Given the description of an element on the screen output the (x, y) to click on. 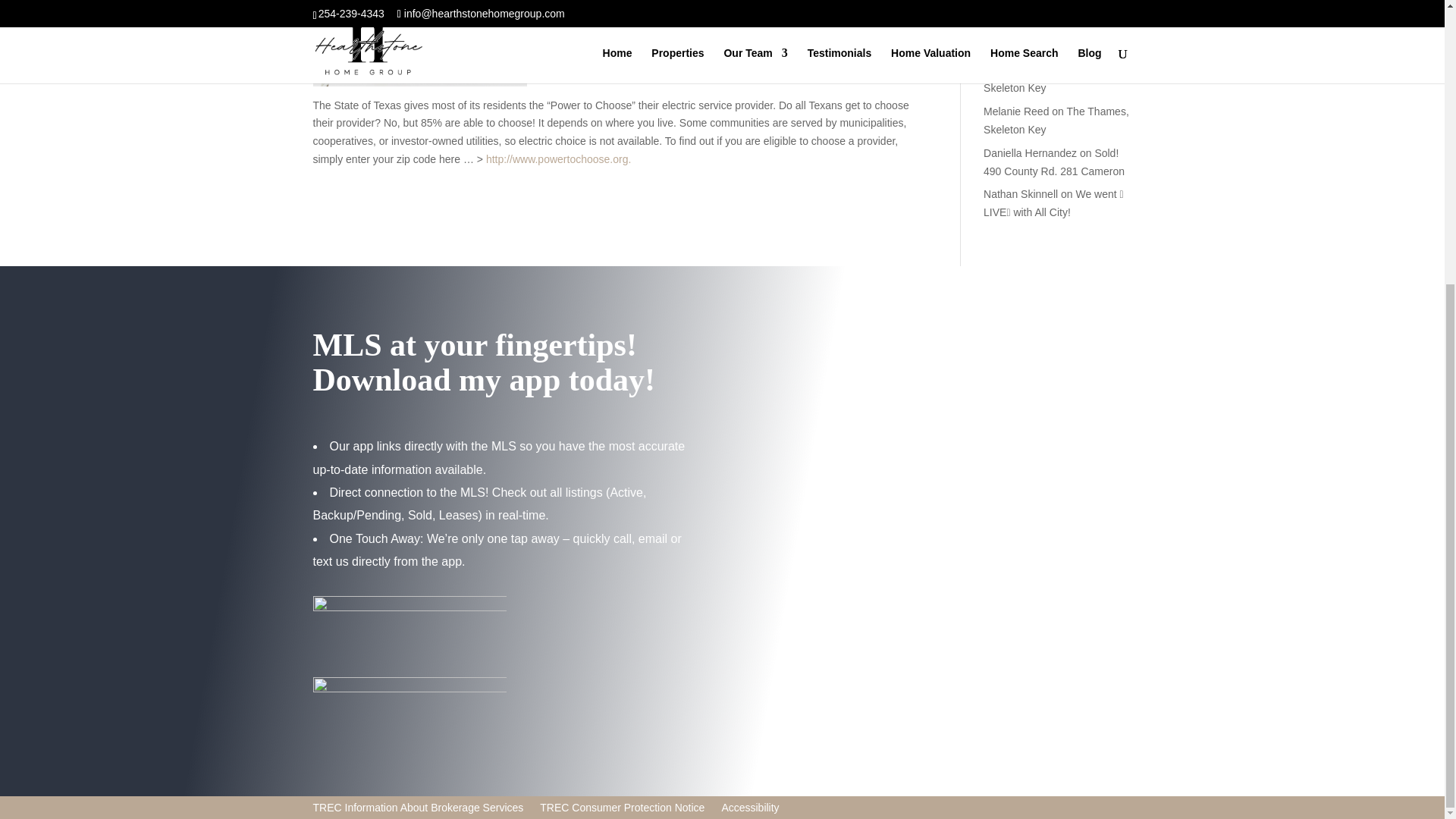
Sold! 490 County Rd. 281 Cameron (1054, 162)
Google-Play-Download (409, 706)
The Thames, Skeleton Key (1056, 120)
Melanie Reed (1016, 111)
Sold ! 887 County Rd 203 Loop, Cameron (1050, 28)
App-Store-Download (409, 625)
Nathan Skinnell (1021, 193)
The Thames, Skeleton Key (1051, 79)
Ruth Parker (1012, 70)
